Given the description of an element on the screen output the (x, y) to click on. 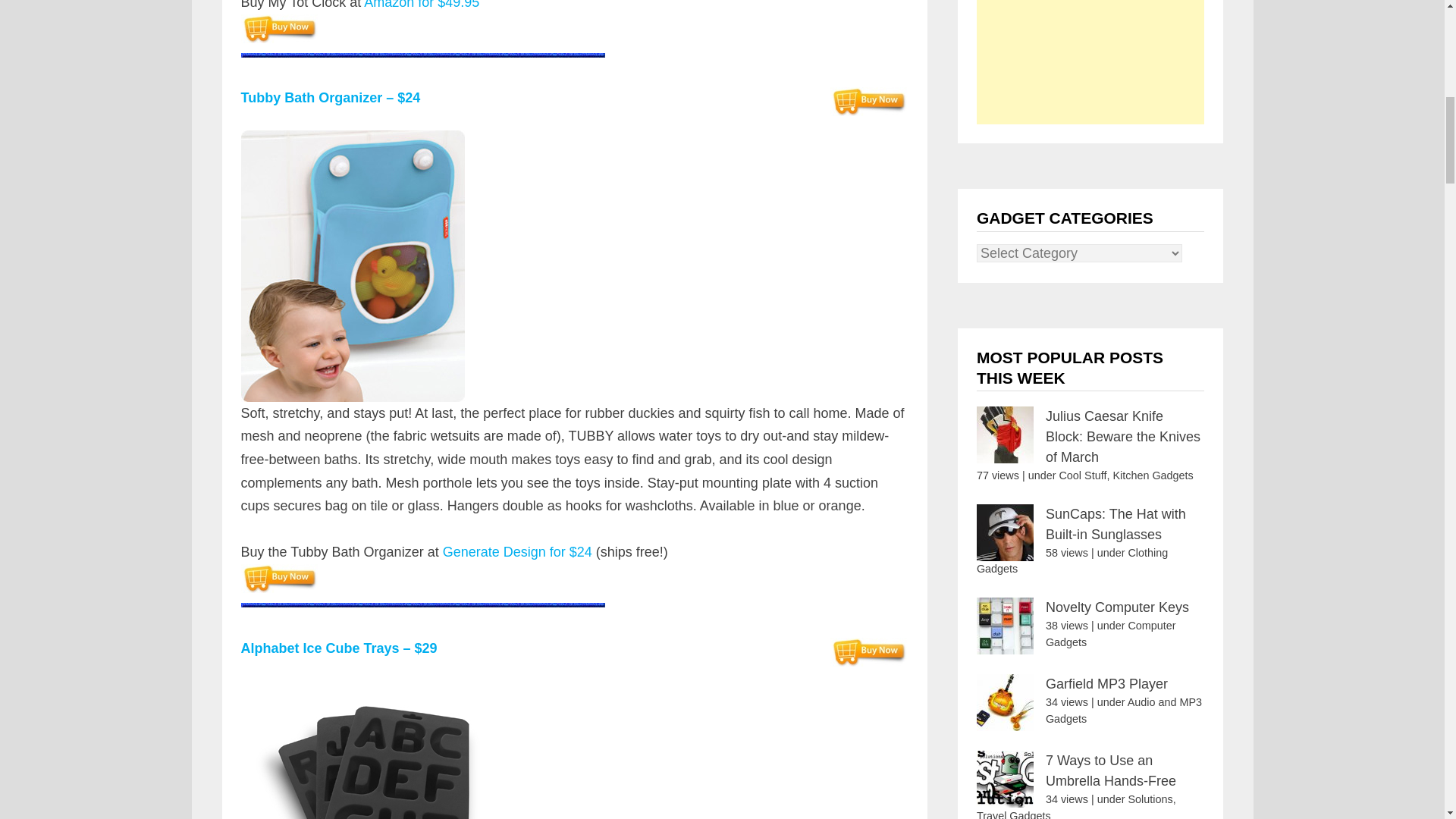
buy now (279, 28)
alphabet ice (386, 749)
buy now (279, 578)
